Given the description of an element on the screen output the (x, y) to click on. 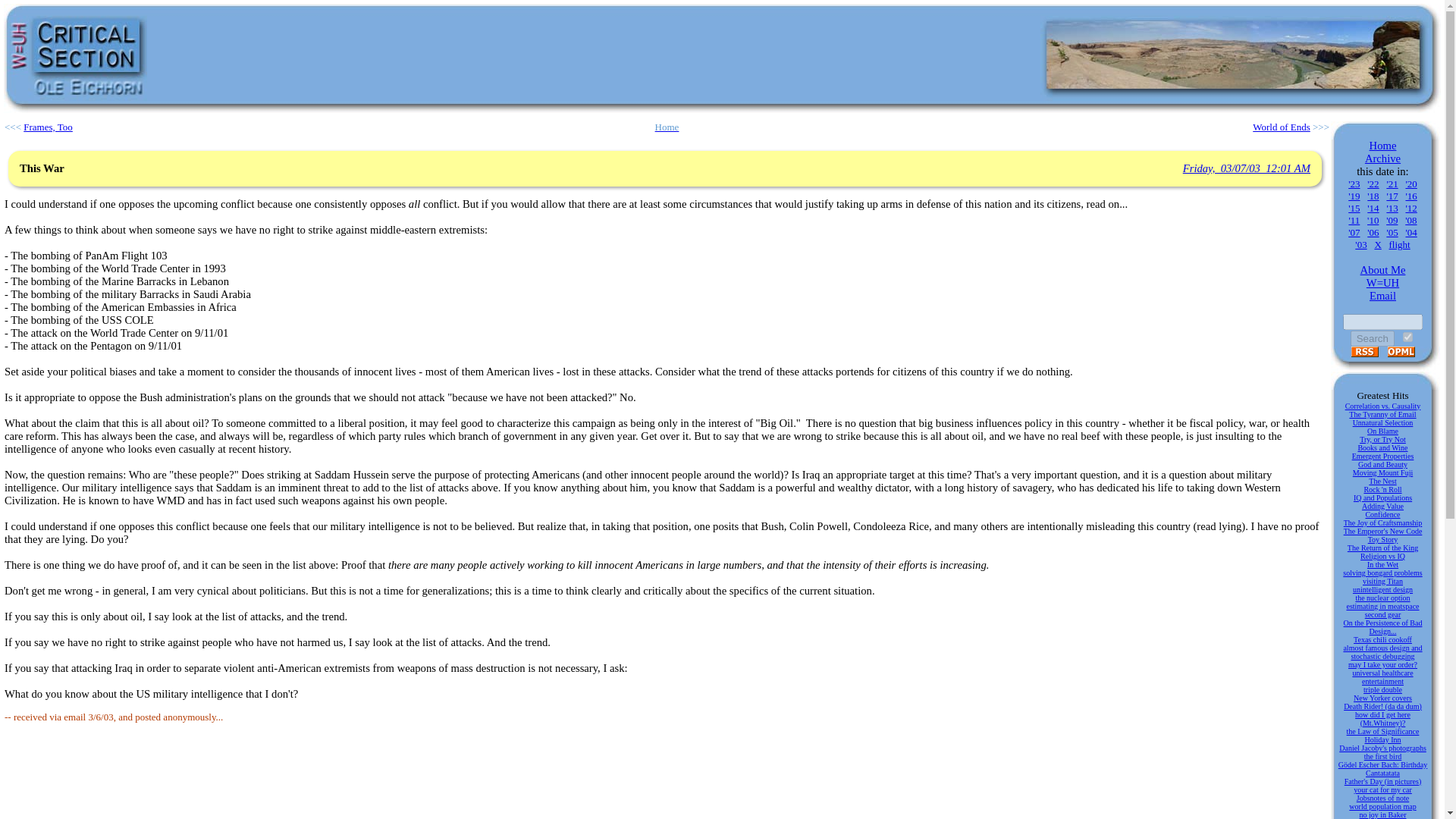
Home (667, 126)
'12 (1410, 207)
'16 (1410, 195)
'21 (1391, 183)
Search (1372, 338)
flight (1399, 244)
Correlation vs. Causality (1383, 406)
Try, or Try Not (1382, 438)
'19 (1353, 195)
'11 (1353, 220)
'23 (1353, 183)
'13 (1391, 207)
World of Ends (1281, 126)
'08 (1410, 220)
by date (1407, 337)
